Given the description of an element on the screen output the (x, y) to click on. 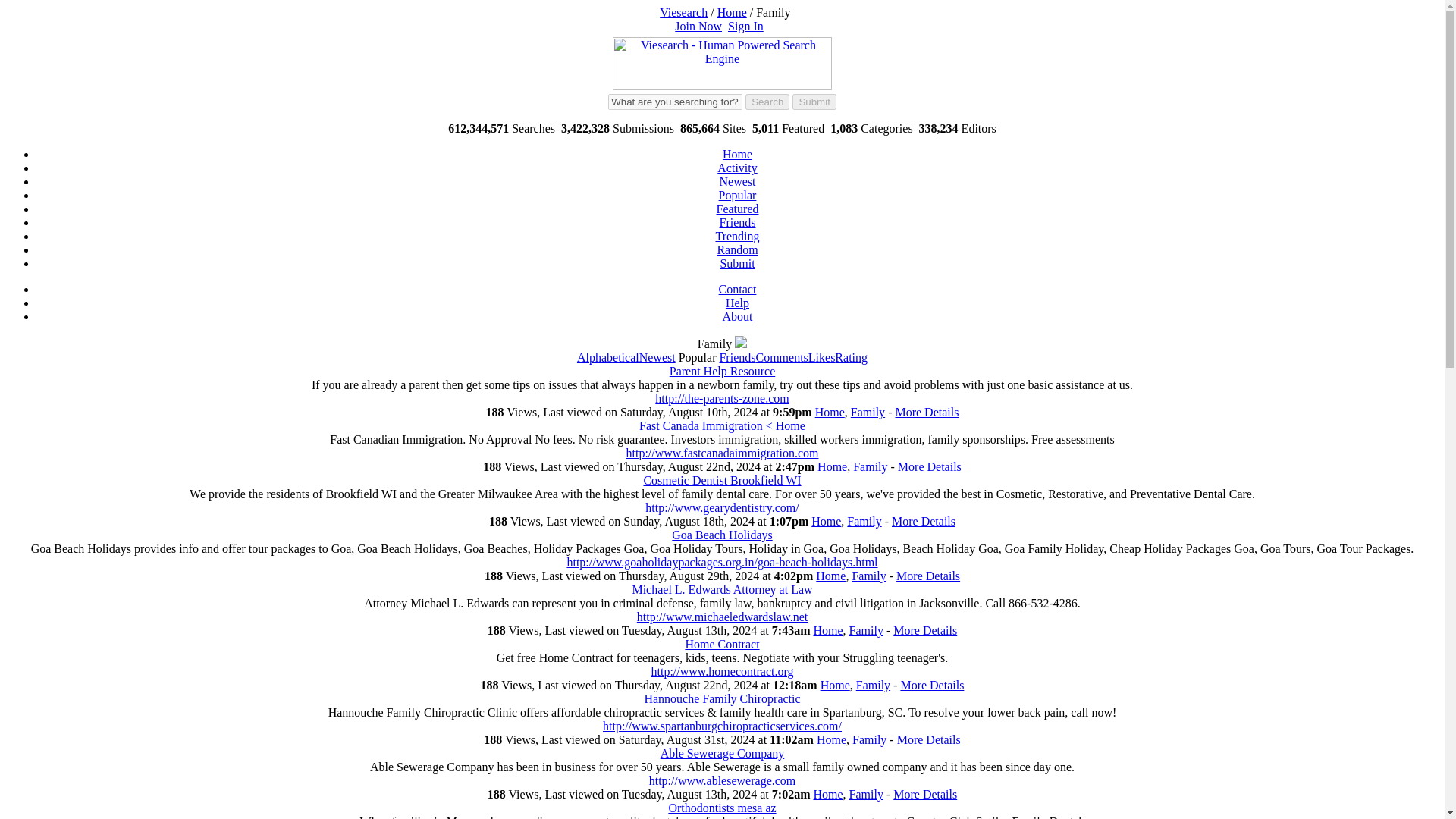
Alphabetical (607, 357)
Submit a new site (736, 263)
Contact (738, 288)
Contact Viesearch (738, 288)
Home (825, 521)
Random (736, 249)
Rating (850, 357)
Activity (737, 167)
Viesearch (683, 11)
Family (869, 466)
